Given the description of an element on the screen output the (x, y) to click on. 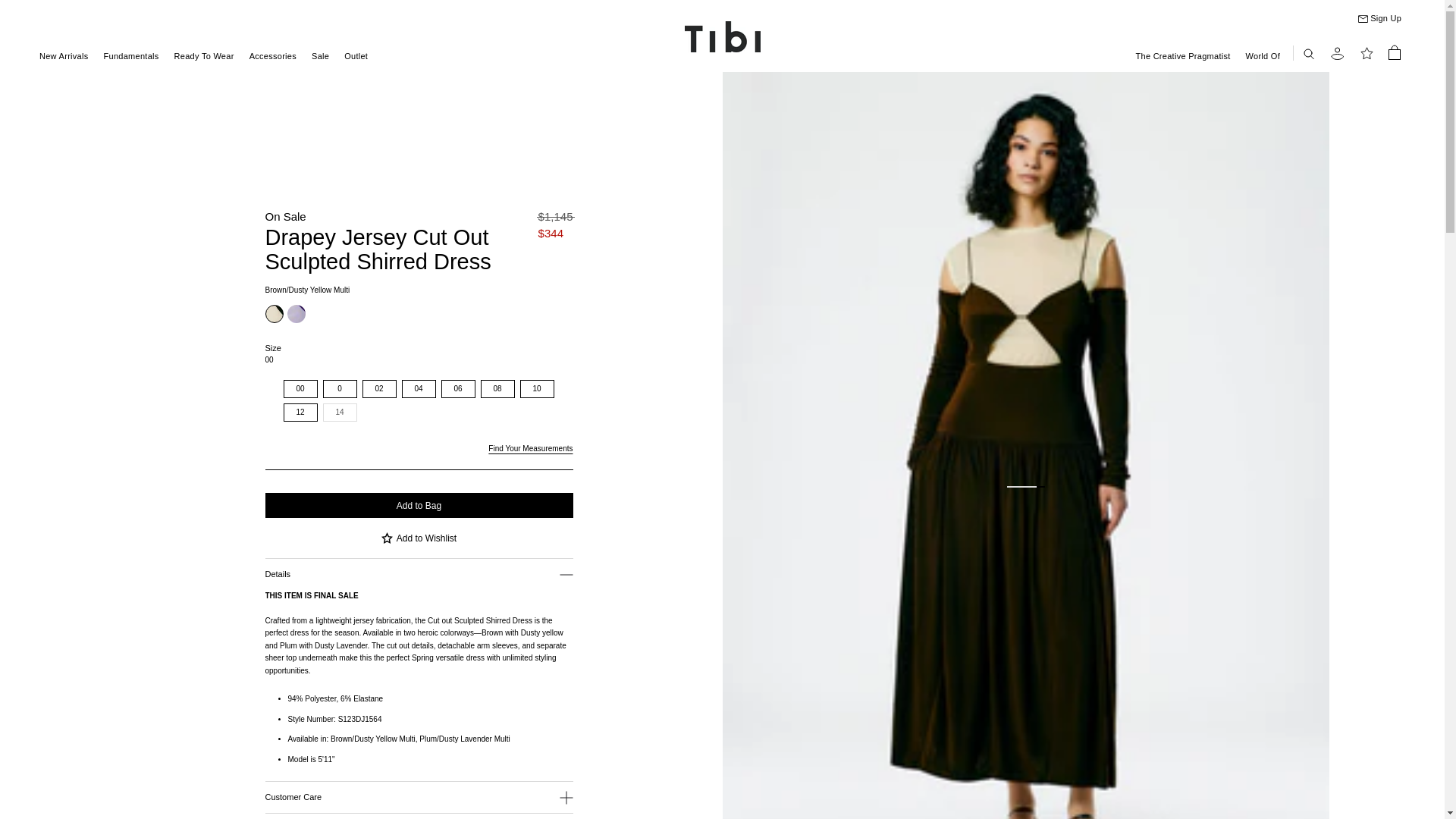
Opens in a new window (529, 448)
